Given the description of an element on the screen output the (x, y) to click on. 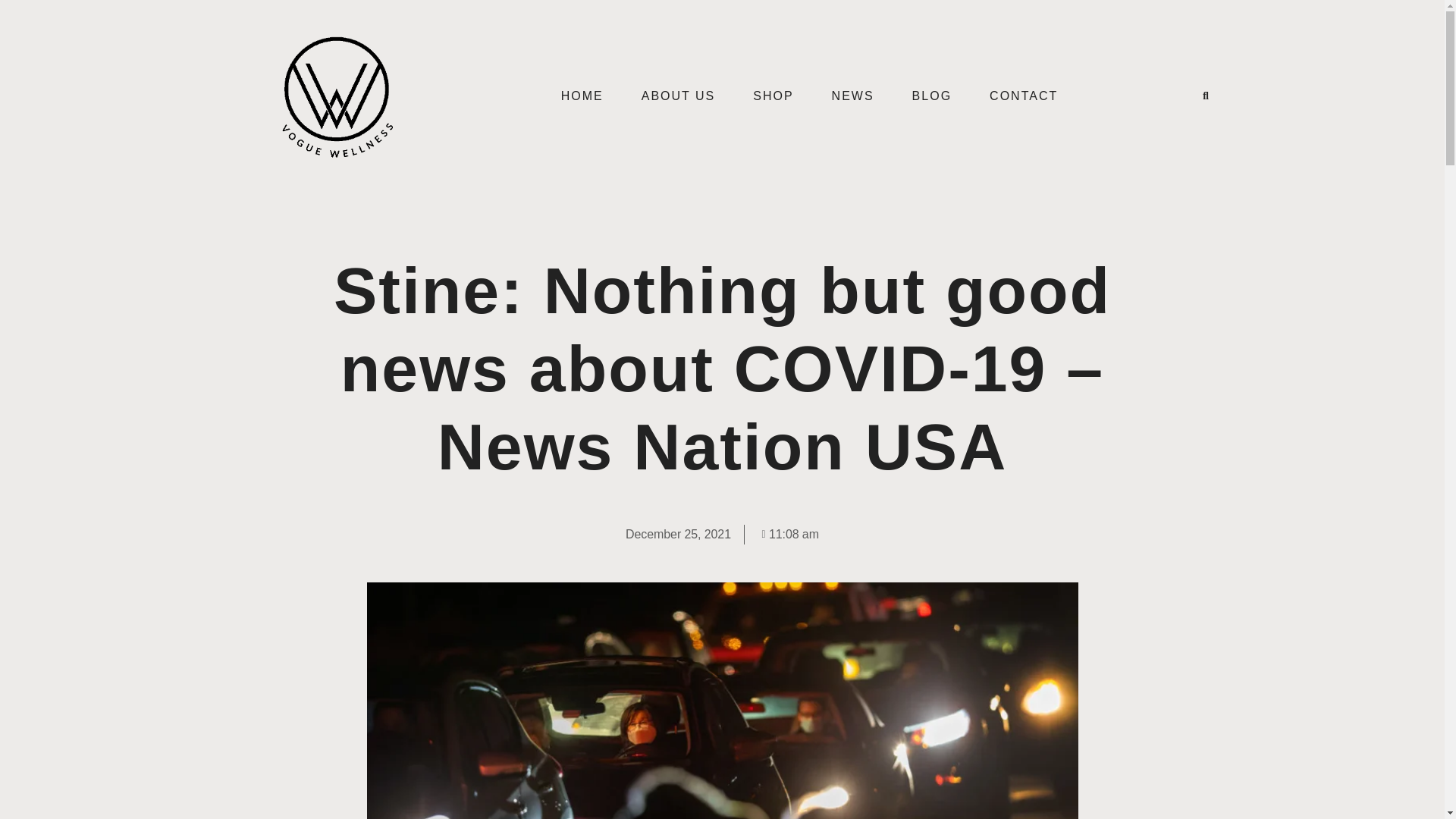
HOME (582, 95)
BLOG (932, 95)
NEWS (853, 95)
ABOUT US (679, 95)
CONTACT (1024, 95)
SHOP (772, 95)
